Given the description of an element on the screen output the (x, y) to click on. 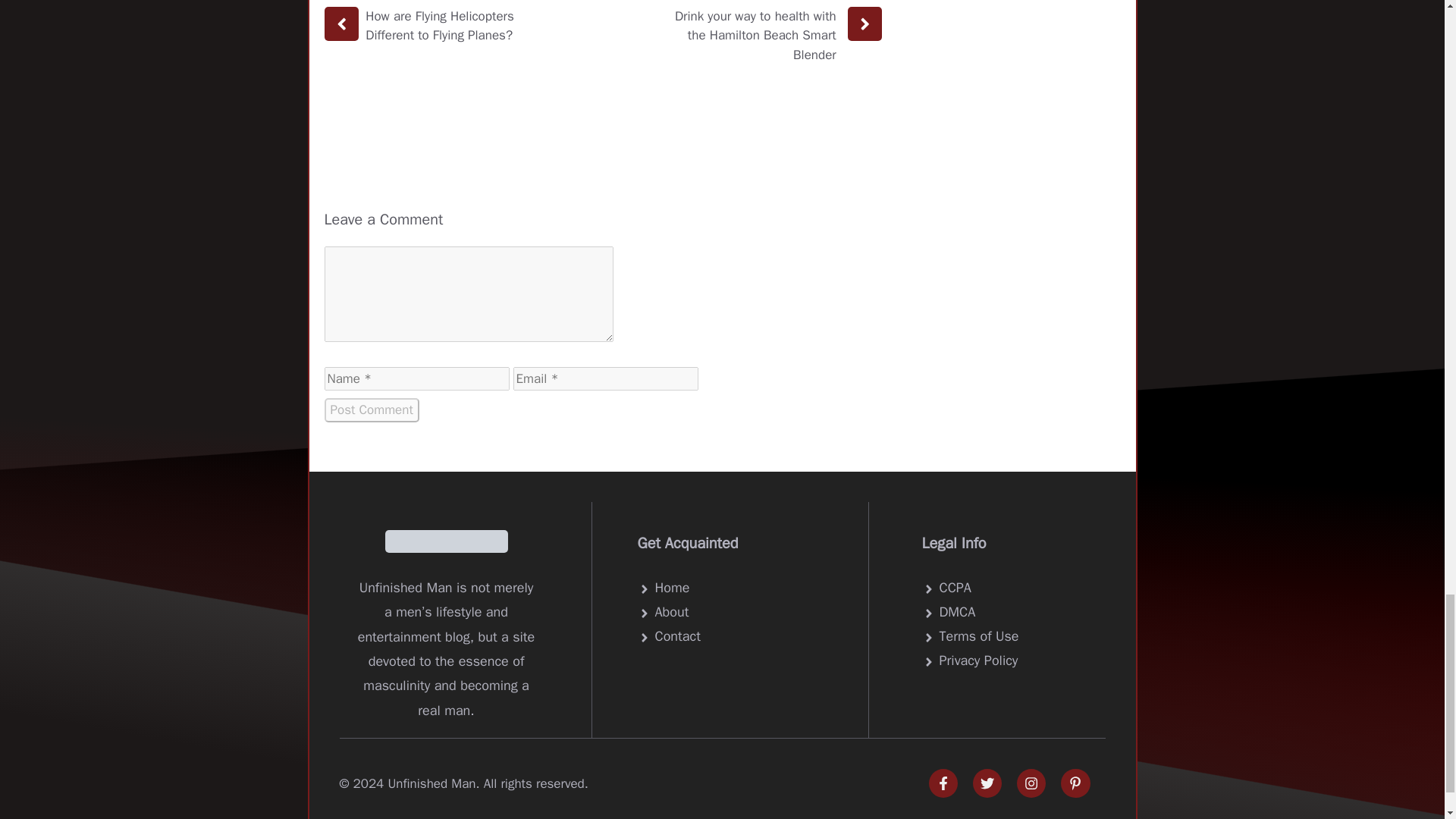
Post Comment (371, 410)
